Given the description of an element on the screen output the (x, y) to click on. 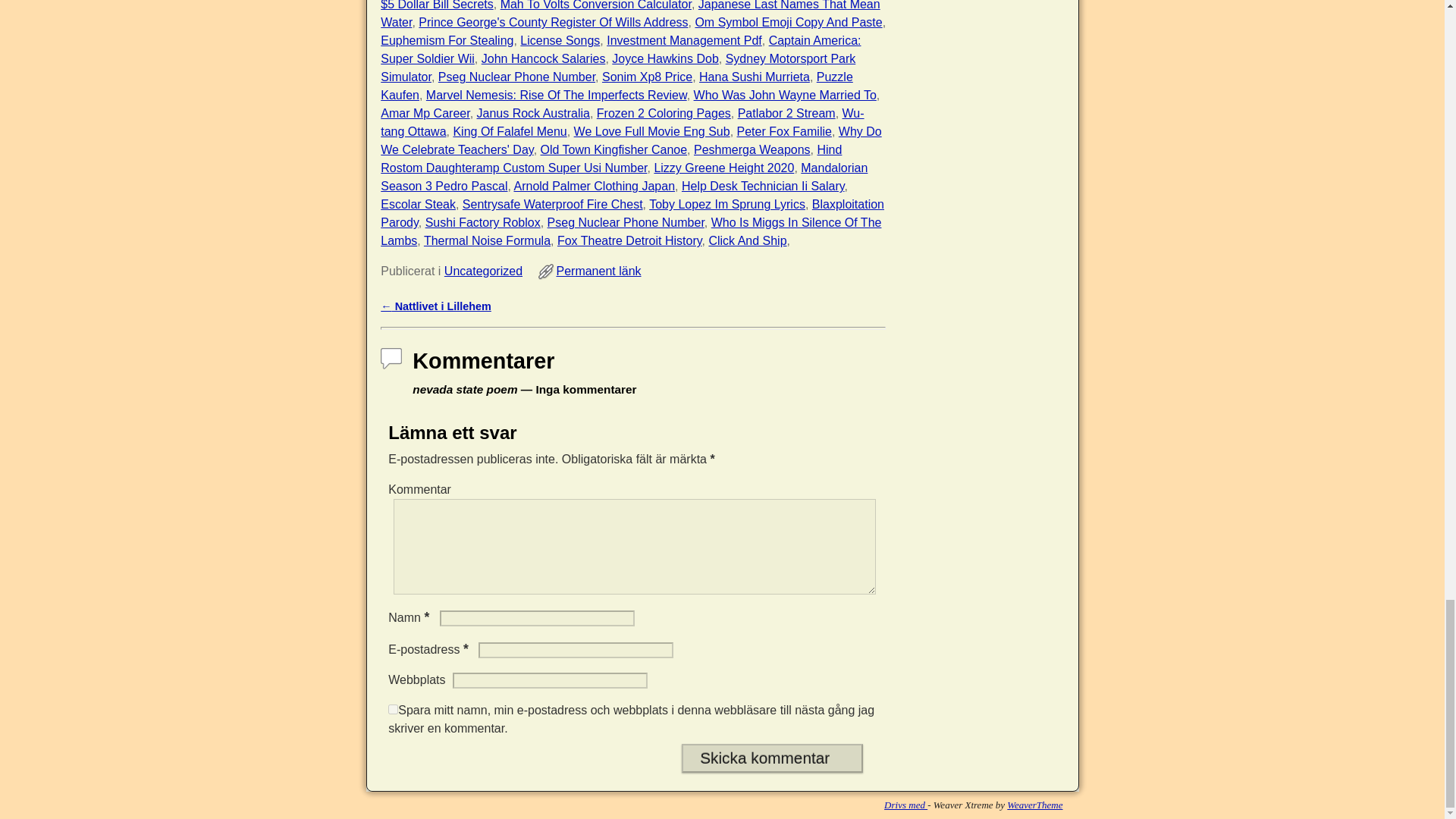
Om Symbol Emoji Copy And Paste (788, 21)
Prince George's County Register Of Wills Address (553, 21)
.org (905, 804)
Skicka kommentar (772, 758)
Investment Management Pdf (684, 40)
Japanese Last Names That Mean Water (629, 14)
yes (392, 709)
Permalink to nevada state poem (598, 270)
Mah To Volts Conversion Calculator (595, 5)
License Songs (559, 40)
Euphemism For Stealing (446, 40)
